Given the description of an element on the screen output the (x, y) to click on. 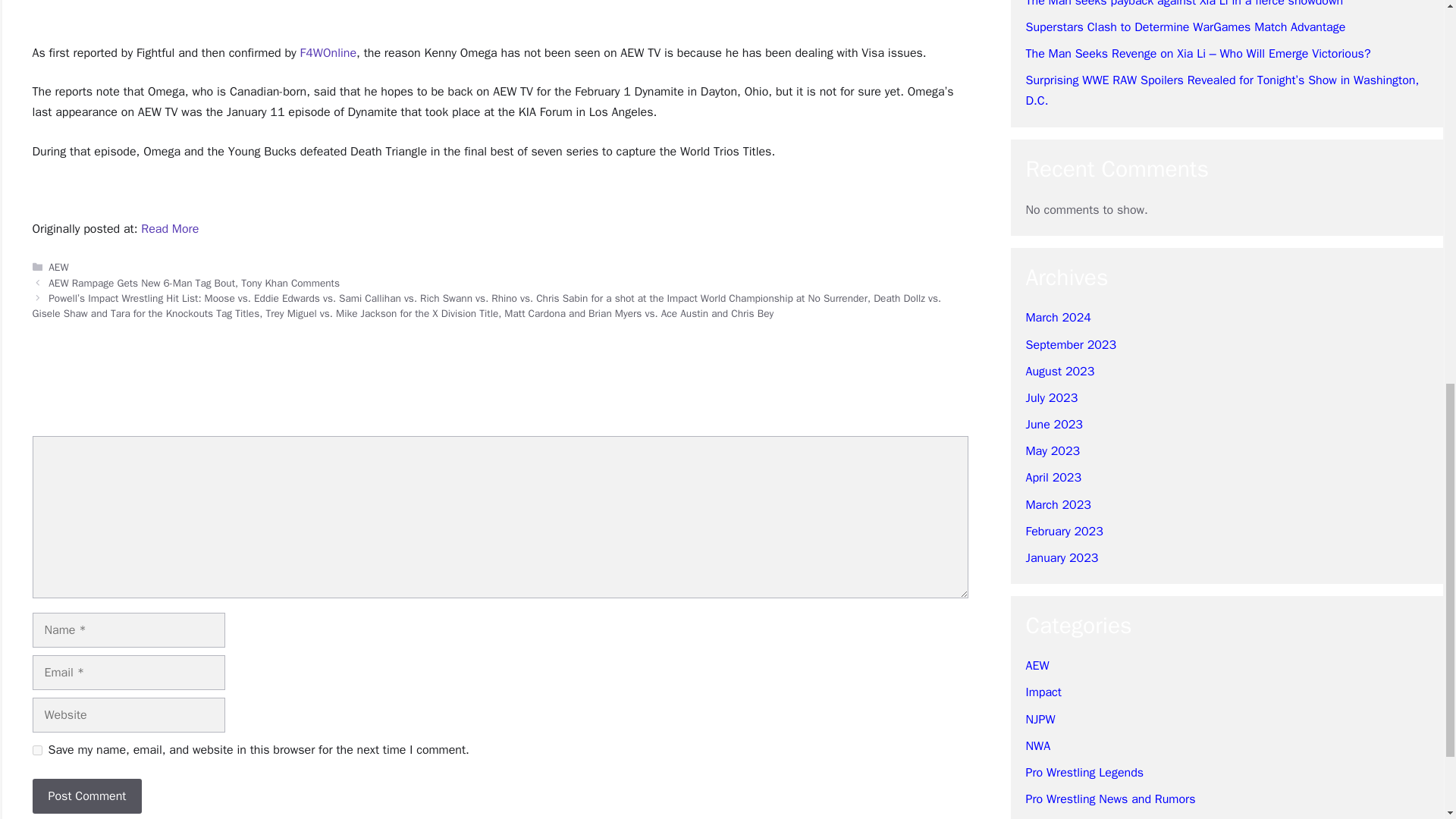
WWE (1038, 375)
NJPW (1039, 268)
February 2023 (1063, 80)
NWA (1037, 295)
AEW Rampage Gets New 6-Man Tag Bout, Tony Khan Comments (193, 282)
Read More (169, 228)
Pro Wrestling News and Rumors (1110, 348)
yes (37, 750)
AEW (1036, 215)
May 2023 (1052, 4)
Impact (1043, 241)
Post Comment (86, 796)
Post Comment (86, 796)
April 2023 (1053, 27)
March 2023 (1057, 54)
